Given the description of an element on the screen output the (x, y) to click on. 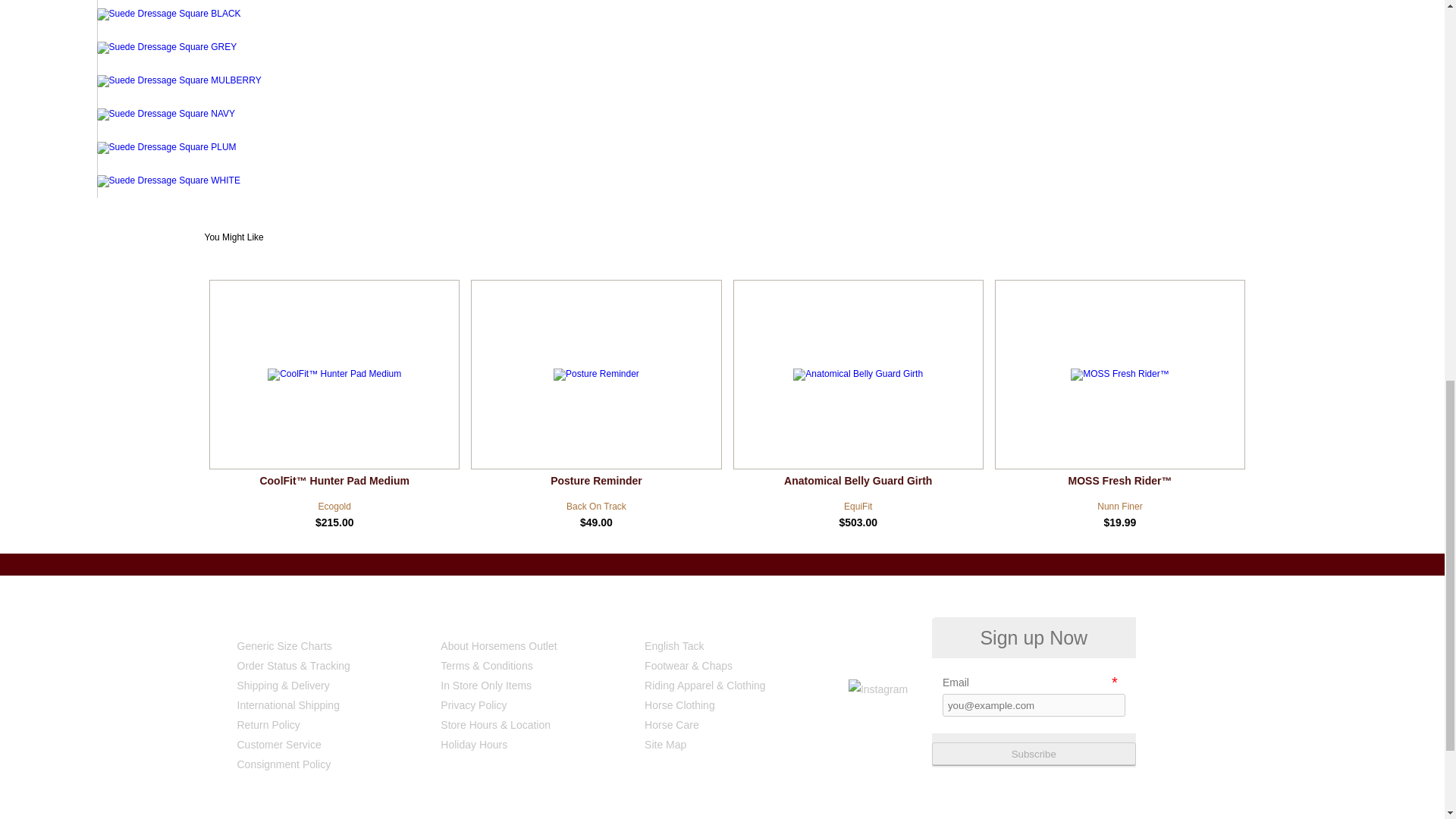
Anatomical Belly Guard Girth (858, 395)
Posture Reminder (595, 395)
Subscribe (1033, 753)
